Given the description of an element on the screen output the (x, y) to click on. 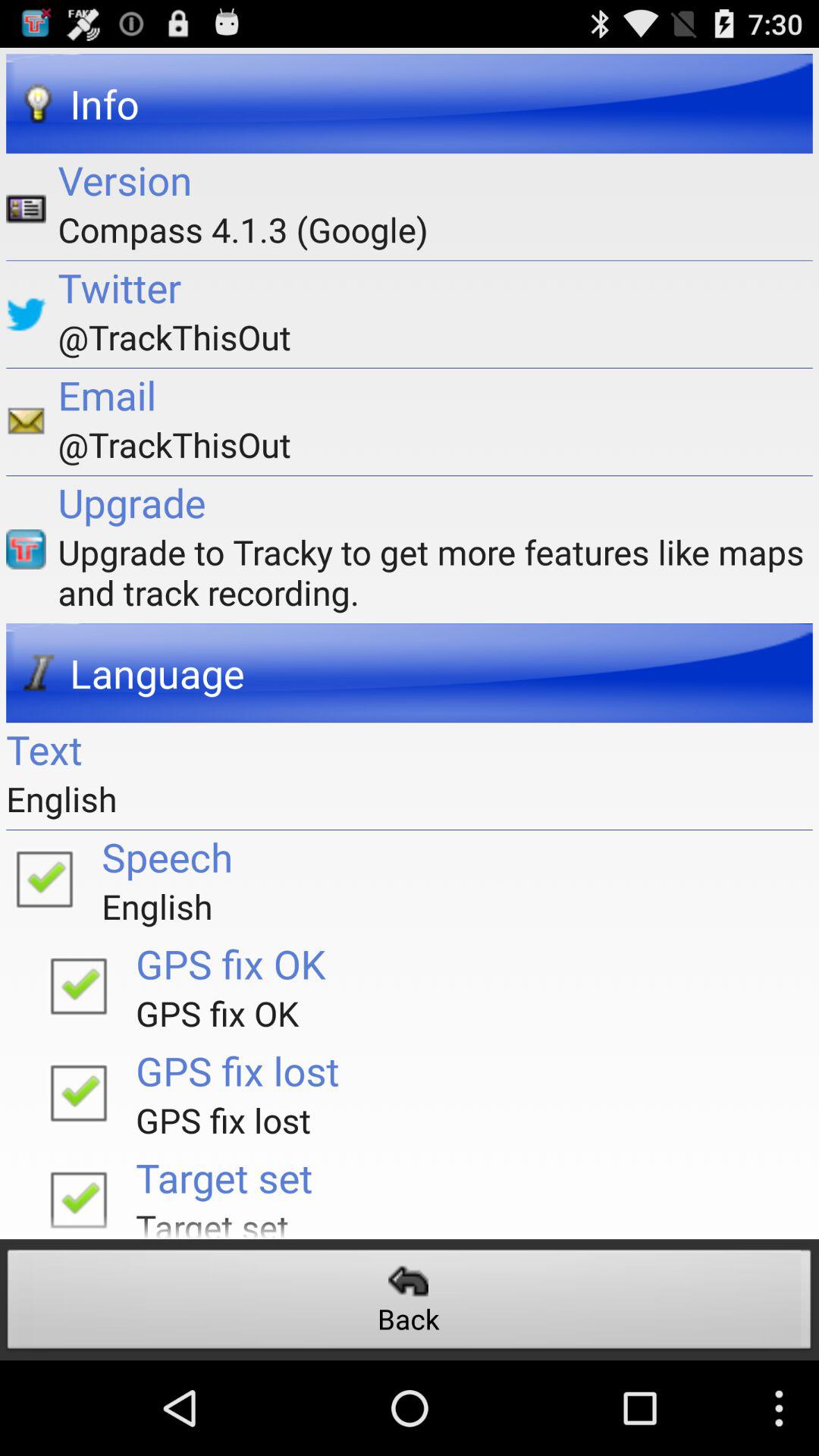
select checkbox (43, 877)
